Given the description of an element on the screen output the (x, y) to click on. 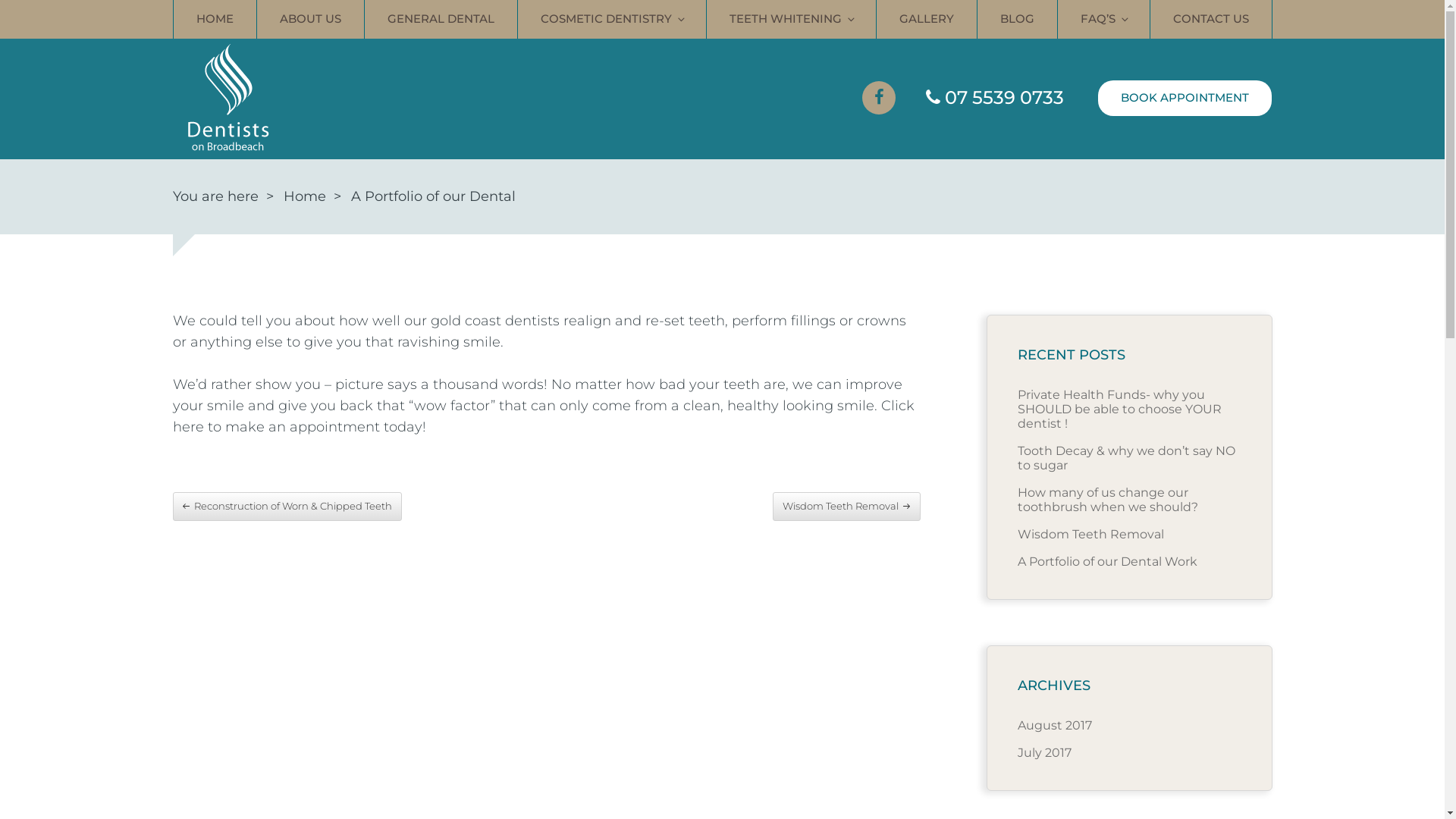
CONTACT US Element type: text (1210, 19)
07 5539 0733 Element type: text (994, 97)
ABOUT US Element type: text (310, 19)
July 2017 Element type: text (1044, 752)
Home Element type: text (304, 196)
Wisdom Teeth Removal Element type: text (846, 506)
HOME Element type: text (214, 19)
TEETH WHITENING Element type: text (791, 19)
You are here Element type: text (215, 196)
A Portfolio of our Dental Work Element type: text (1107, 561)
A Portfolio of our Dental Element type: text (432, 196)
COSMETIC DENTISTRY Element type: text (611, 19)
BOOK APPOINTMENT Element type: text (1184, 98)
Reconstruction of Worn & Chipped Teeth Element type: text (287, 506)
Wisdom Teeth Removal Element type: text (1090, 534)
GENERAL DENTAL Element type: text (440, 19)
How many of us change our toothbrush when we should? Element type: text (1107, 499)
BLOG Element type: text (1016, 19)
GALLERY Element type: text (926, 19)
August 2017 Element type: text (1054, 725)
